Given the description of an element on the screen output the (x, y) to click on. 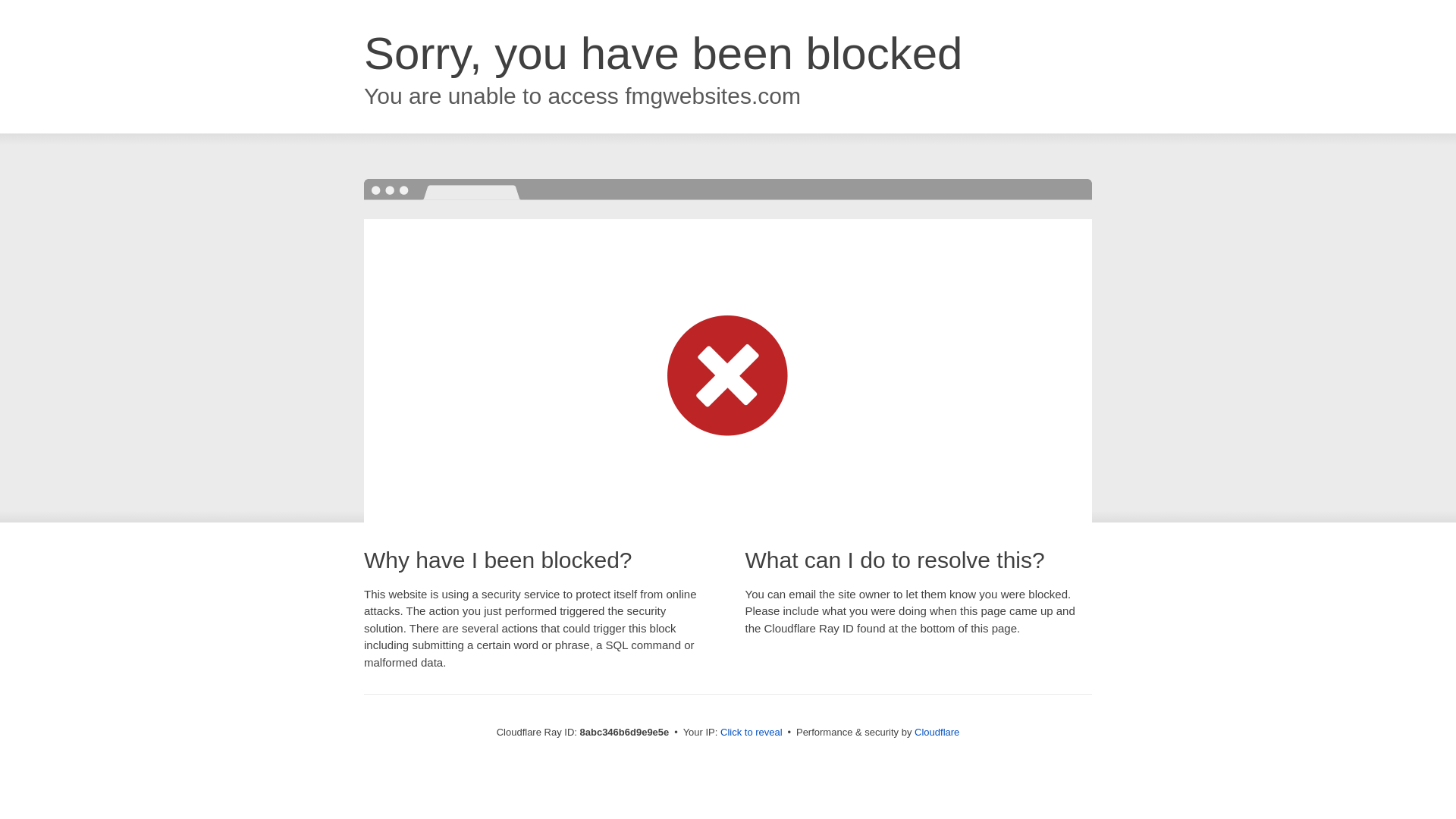
Cloudflare (936, 731)
Click to reveal (751, 732)
